Given the description of an element on the screen output the (x, y) to click on. 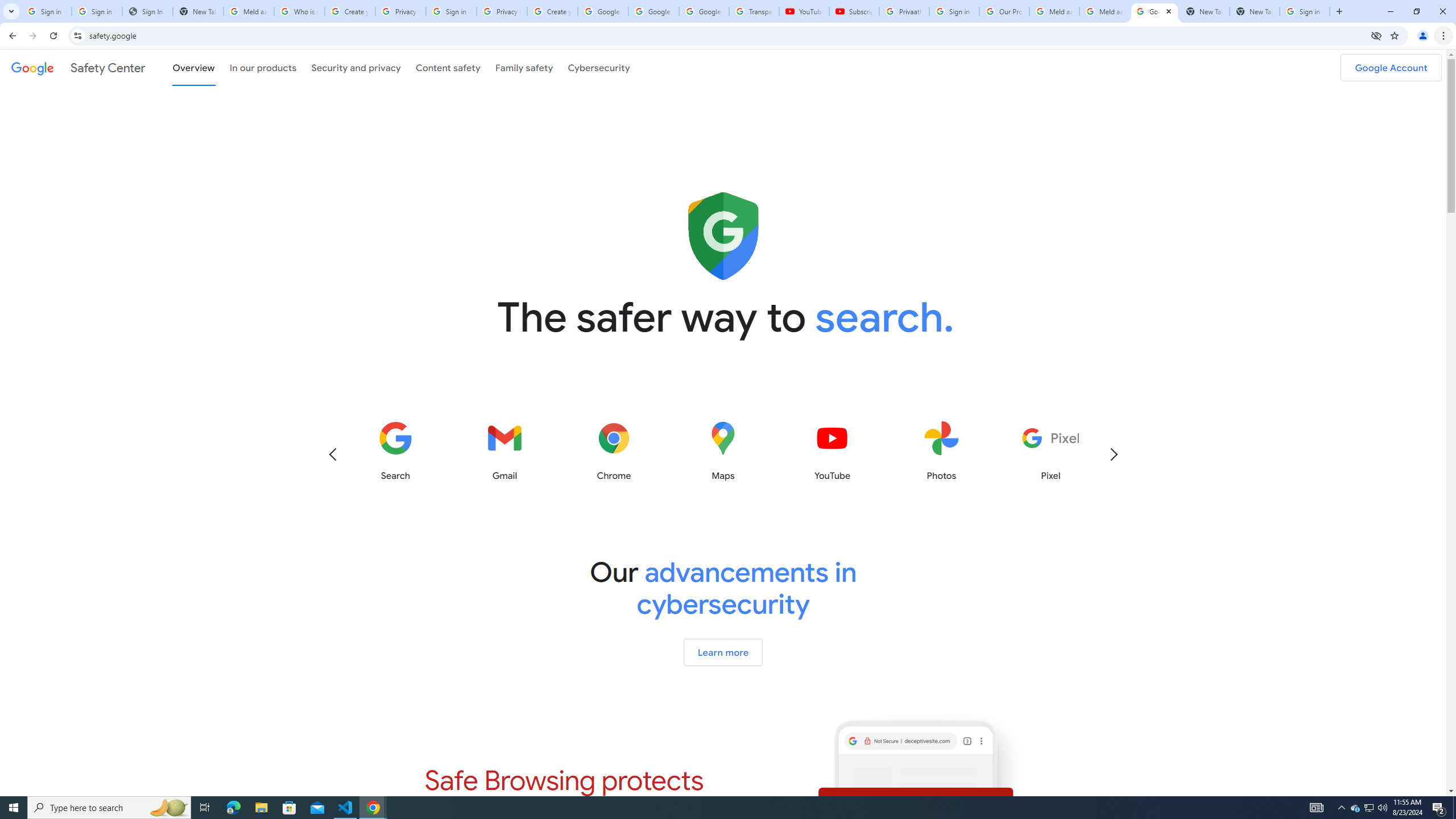
Security and privacy (356, 67)
New Tab (1254, 11)
Sign in - Google Accounts (97, 11)
Learn more (722, 651)
YouTube (804, 11)
AutomationID: overview-products-carousel-desktop-4 (722, 451)
